Given the description of an element on the screen output the (x, y) to click on. 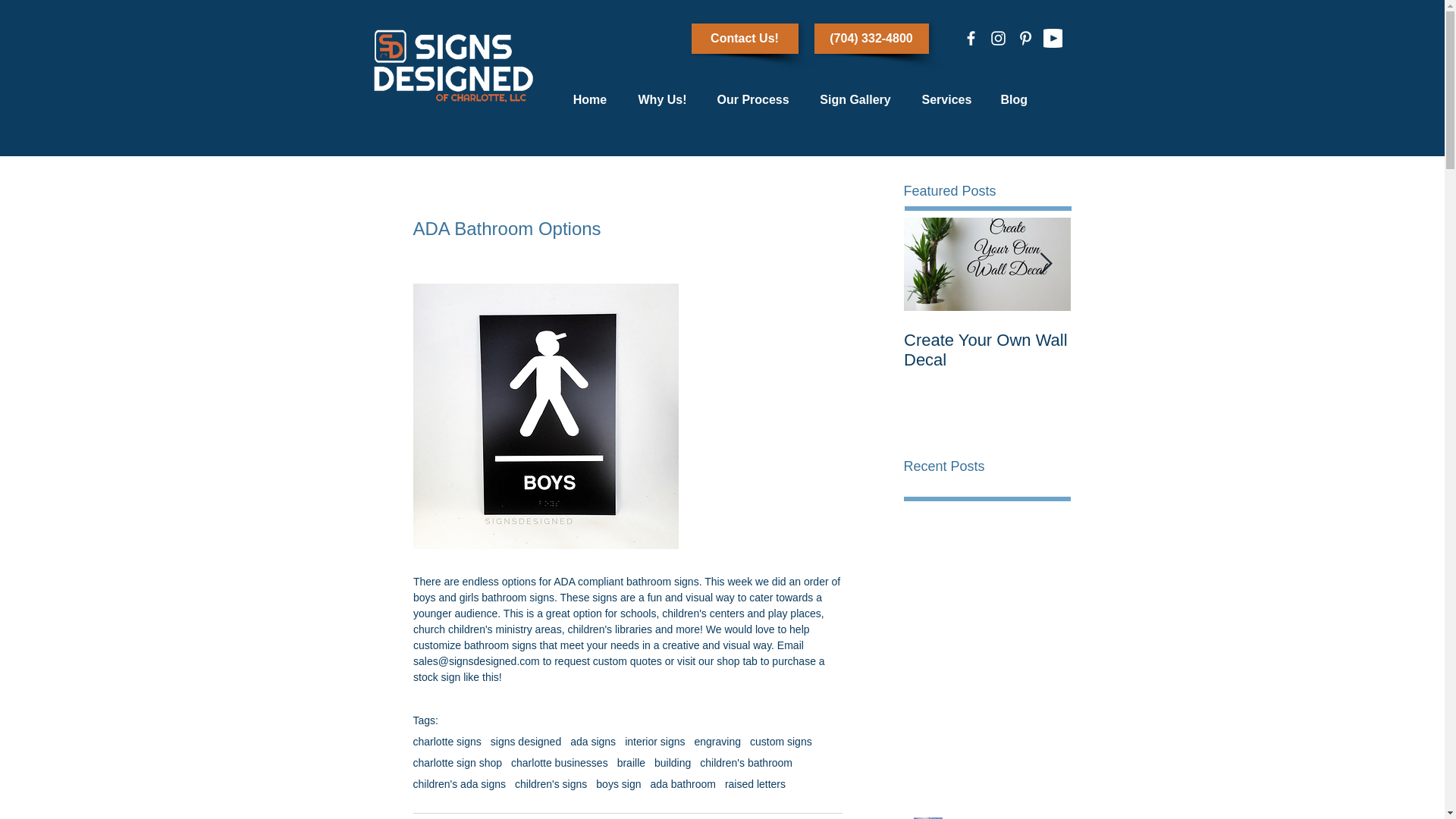
Sign Gallery (854, 99)
Services (946, 99)
Our Process (753, 99)
charlotte signs (446, 741)
Contact Us! (744, 38)
signs designed (525, 741)
Blog (1013, 99)
Home (589, 99)
ada signs (592, 741)
Why Us! (662, 99)
